Given the description of an element on the screen output the (x, y) to click on. 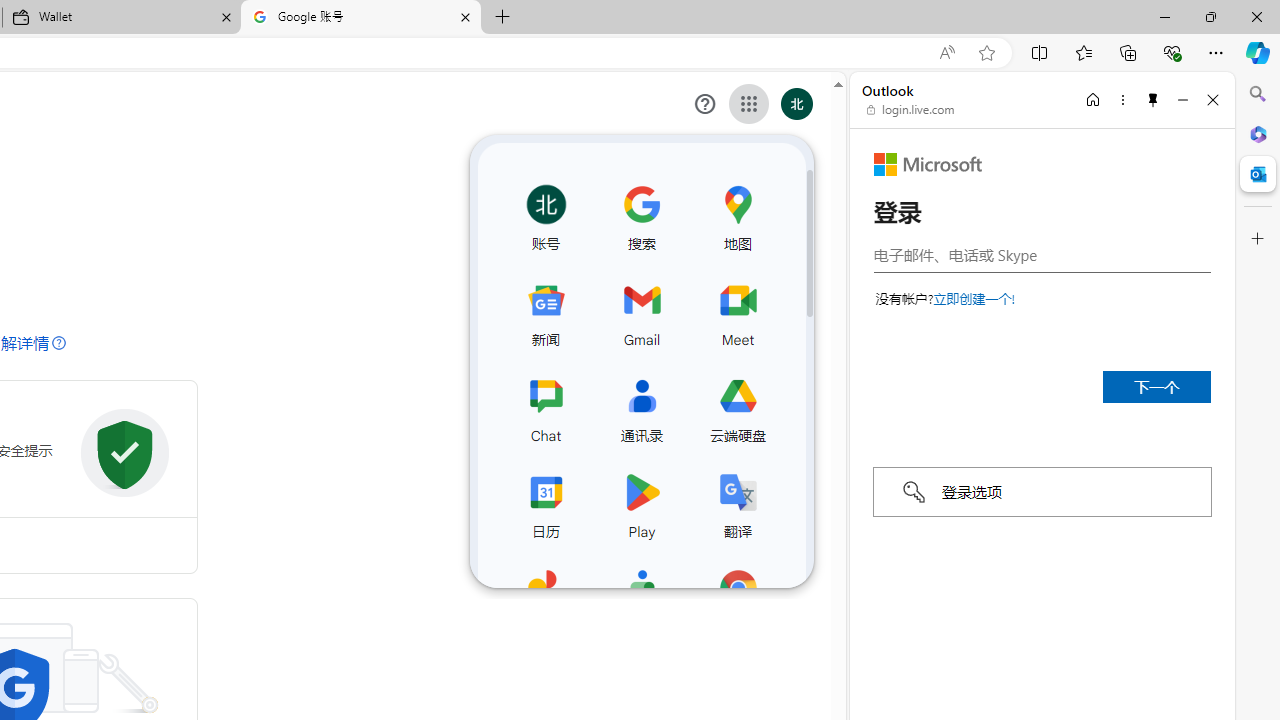
login.live.com (911, 110)
Gmail (641, 310)
